Given the description of an element on the screen output the (x, y) to click on. 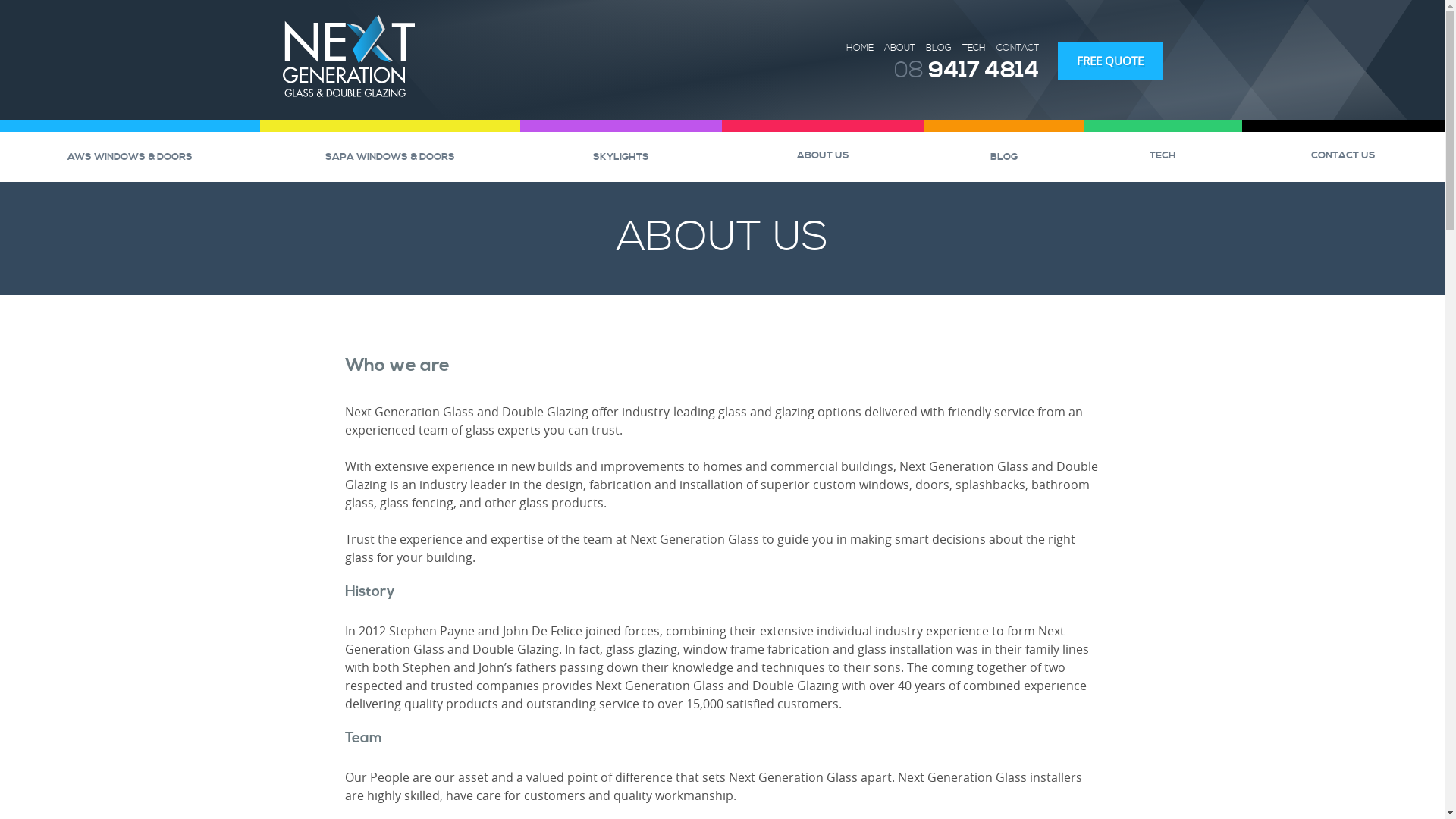
BLOG Element type: text (937, 47)
AWS WINDOWS & DOORS Element type: text (130, 155)
SAPA WINDOWS & DOORS Element type: text (390, 155)
FREE QUOTE Element type: text (1109, 60)
BLOG Element type: text (1003, 155)
CONTACT US Element type: text (1343, 154)
TECH Element type: text (973, 47)
08 9417 4814 Element type: text (965, 70)
ABOUT US Element type: text (822, 154)
SKYLIGHTS Element type: text (621, 155)
ABOUT Element type: text (899, 47)
HOME Element type: text (859, 47)
TECH Element type: text (1162, 154)
CONTACT Element type: text (1017, 47)
